Given the description of an element on the screen output the (x, y) to click on. 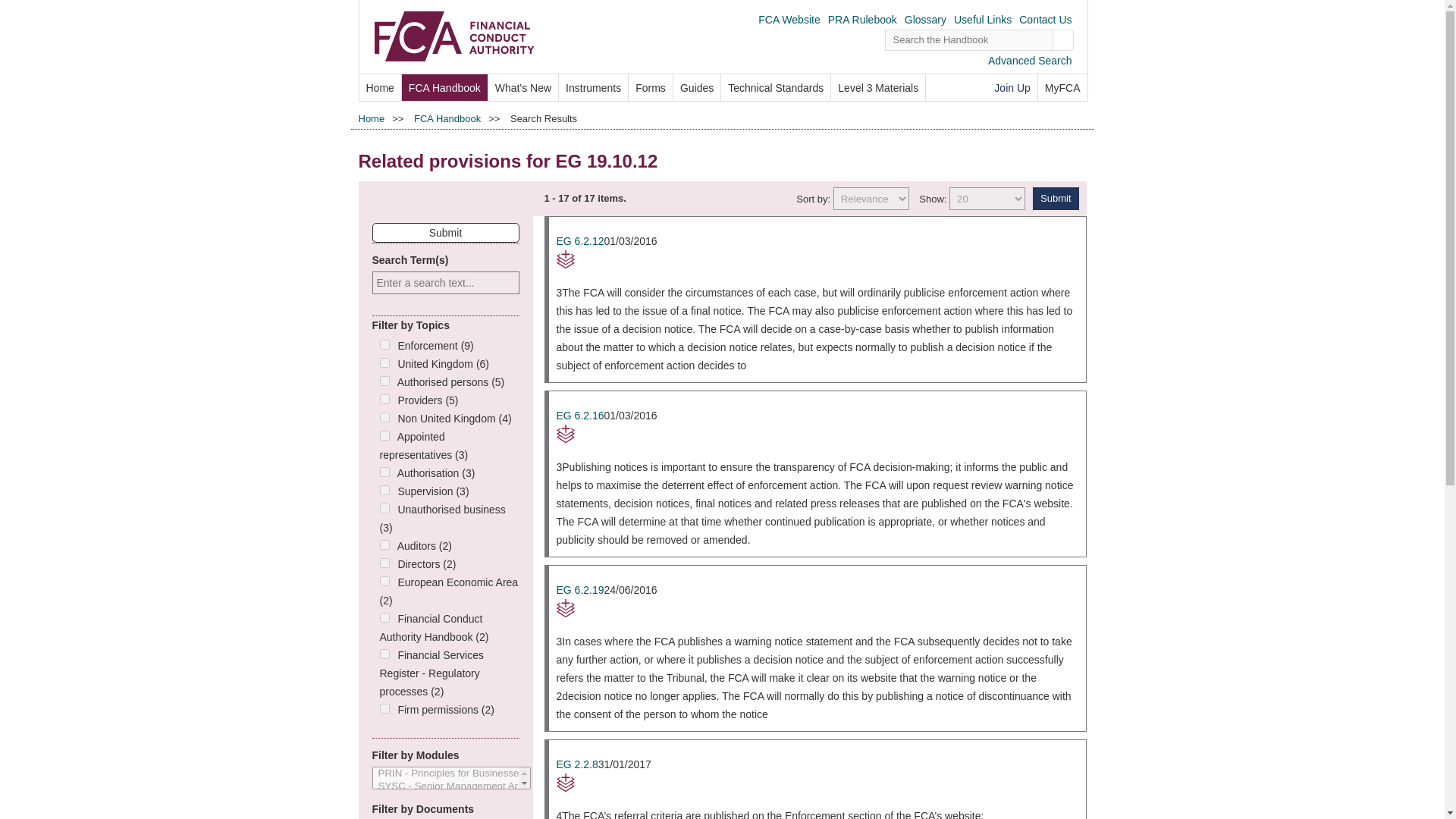
Search (1063, 39)
What's New (522, 87)
RP (817, 607)
Providers (383, 398)
Home (380, 87)
Guides (696, 87)
Home (371, 118)
Access your alerts and favourite pages (1062, 87)
Supervision (383, 490)
Related Provisions (817, 607)
